Given the description of an element on the screen output the (x, y) to click on. 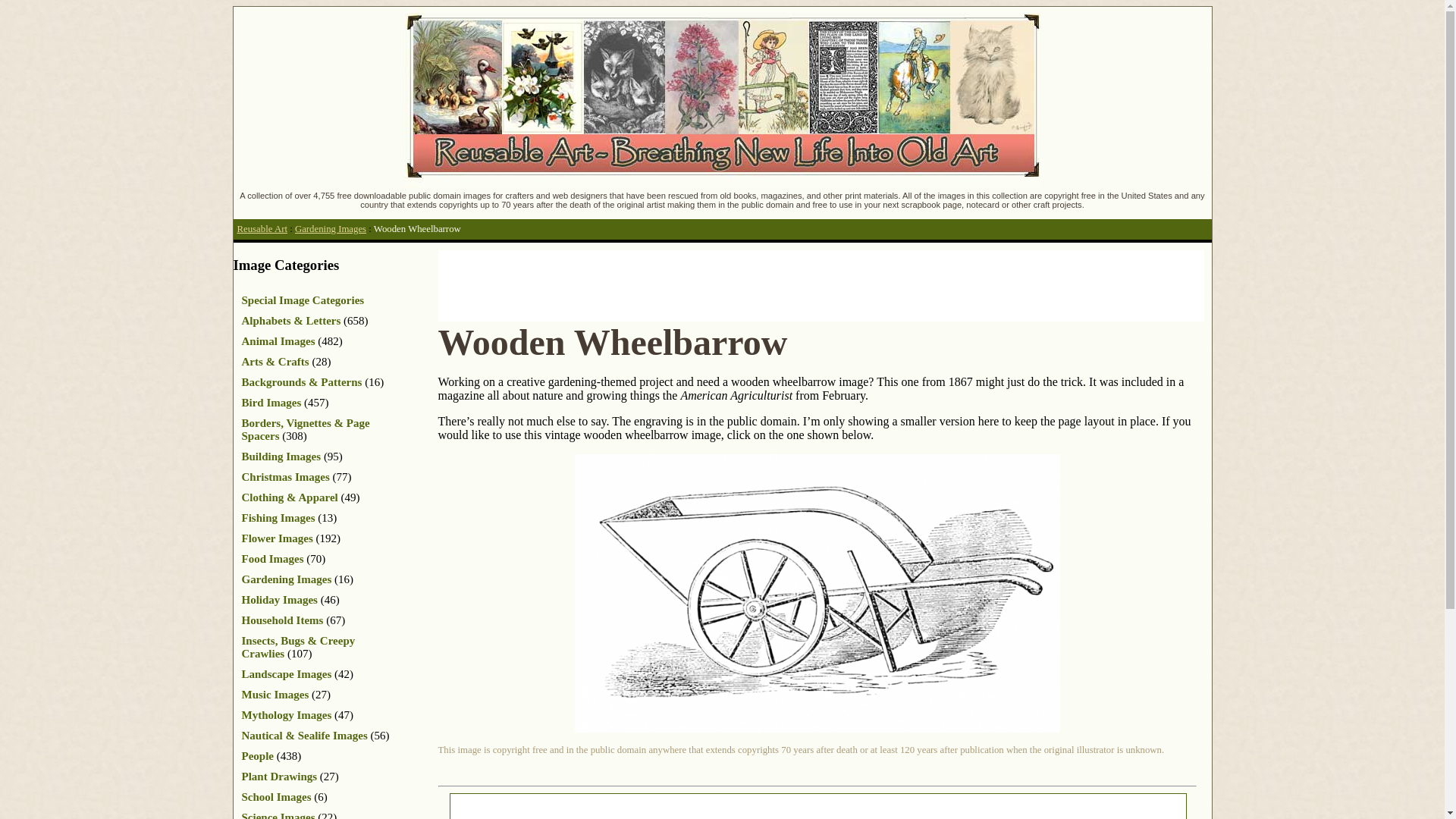
Christmas Images (285, 476)
Animal Images (277, 340)
Holiday Images (279, 599)
Special Image Categories (302, 300)
Music Images (274, 694)
Plant Drawings (279, 776)
Science Images (277, 815)
Mythology Images (286, 715)
Reusable Art (260, 228)
Gardening Images (286, 579)
